Given the description of an element on the screen output the (x, y) to click on. 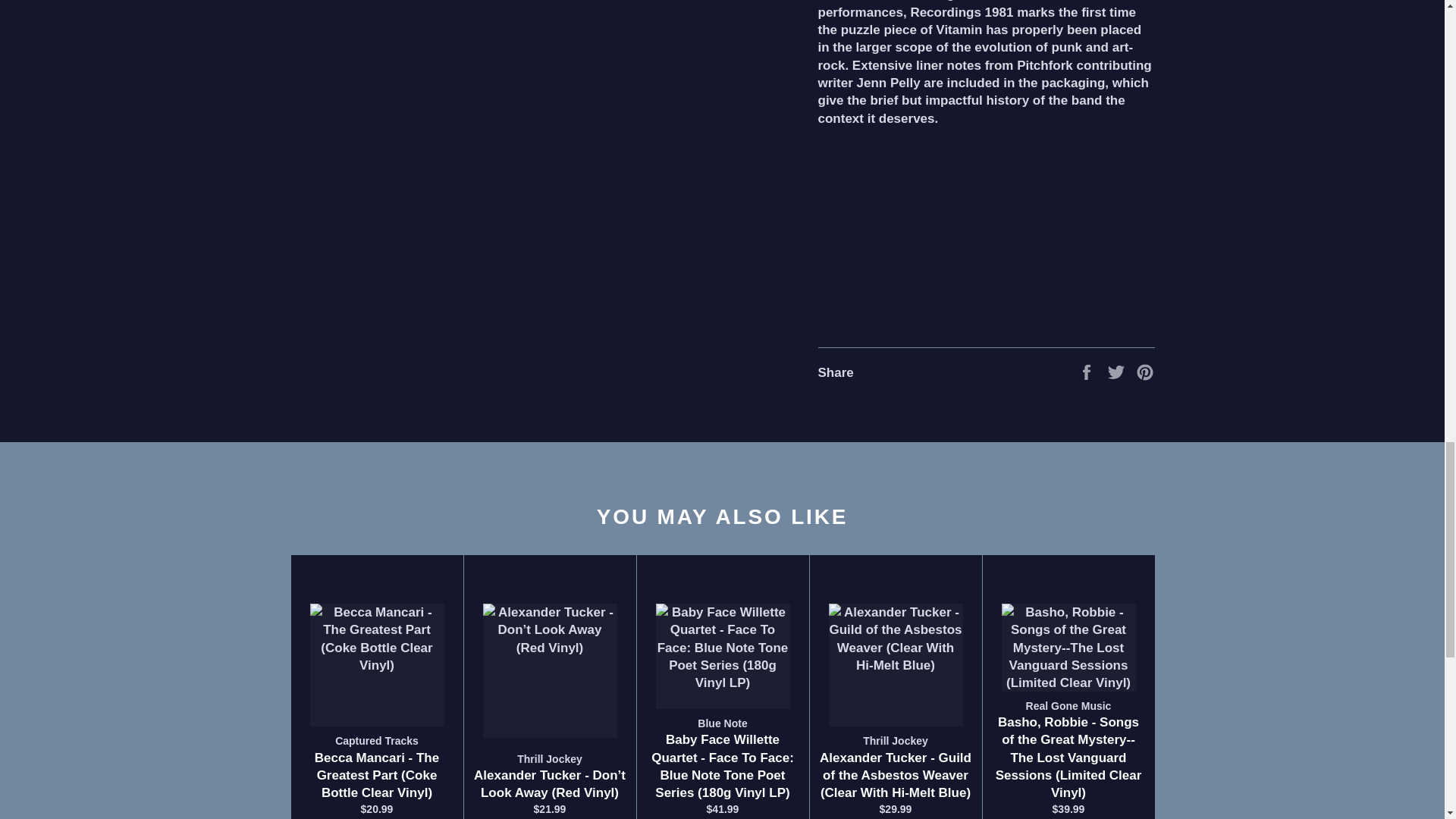
Tweet on Twitter (1117, 371)
Tweet on Twitter (1117, 371)
Pin on Pinterest (1144, 371)
Pin on Pinterest (1144, 371)
Share on Facebook (1088, 371)
Share on Facebook (1088, 371)
